Given the description of an element on the screen output the (x, y) to click on. 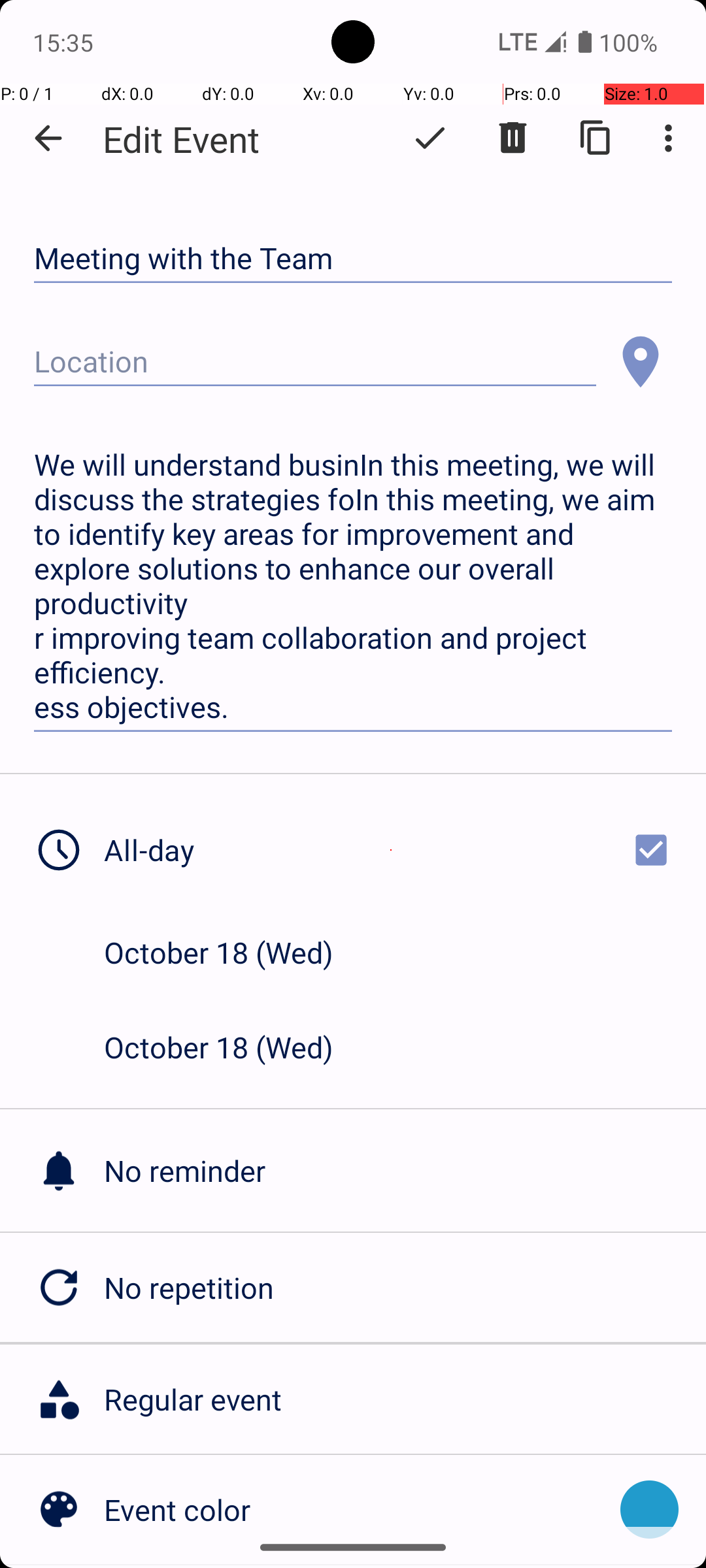
We will understand businIn this meeting, we will discuss the strategies foIn this meeting, we aim to identify key areas for improvement and explore solutions to enhance our overall productivity
r improving team collaboration and project efficiency.
ess objectives. Element type: android.widget.EditText (352, 586)
October 18 (Wed) Element type: android.widget.TextView (232, 951)
